Given the description of an element on the screen output the (x, y) to click on. 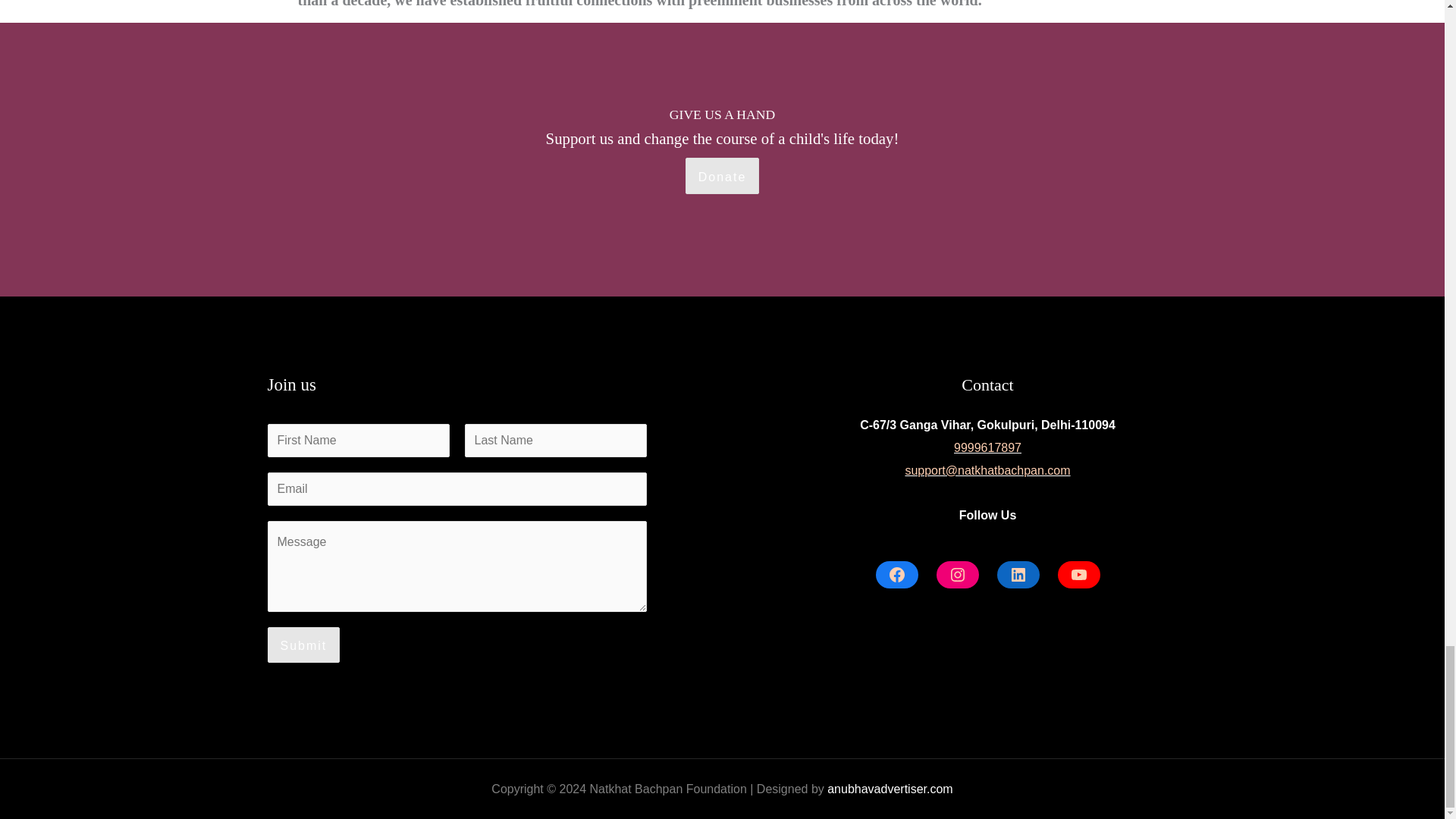
Submit (302, 645)
Donate (722, 176)
9999617897 (987, 447)
Donate (722, 176)
anubhavadvertiser.com (889, 788)
